Given the description of an element on the screen output the (x, y) to click on. 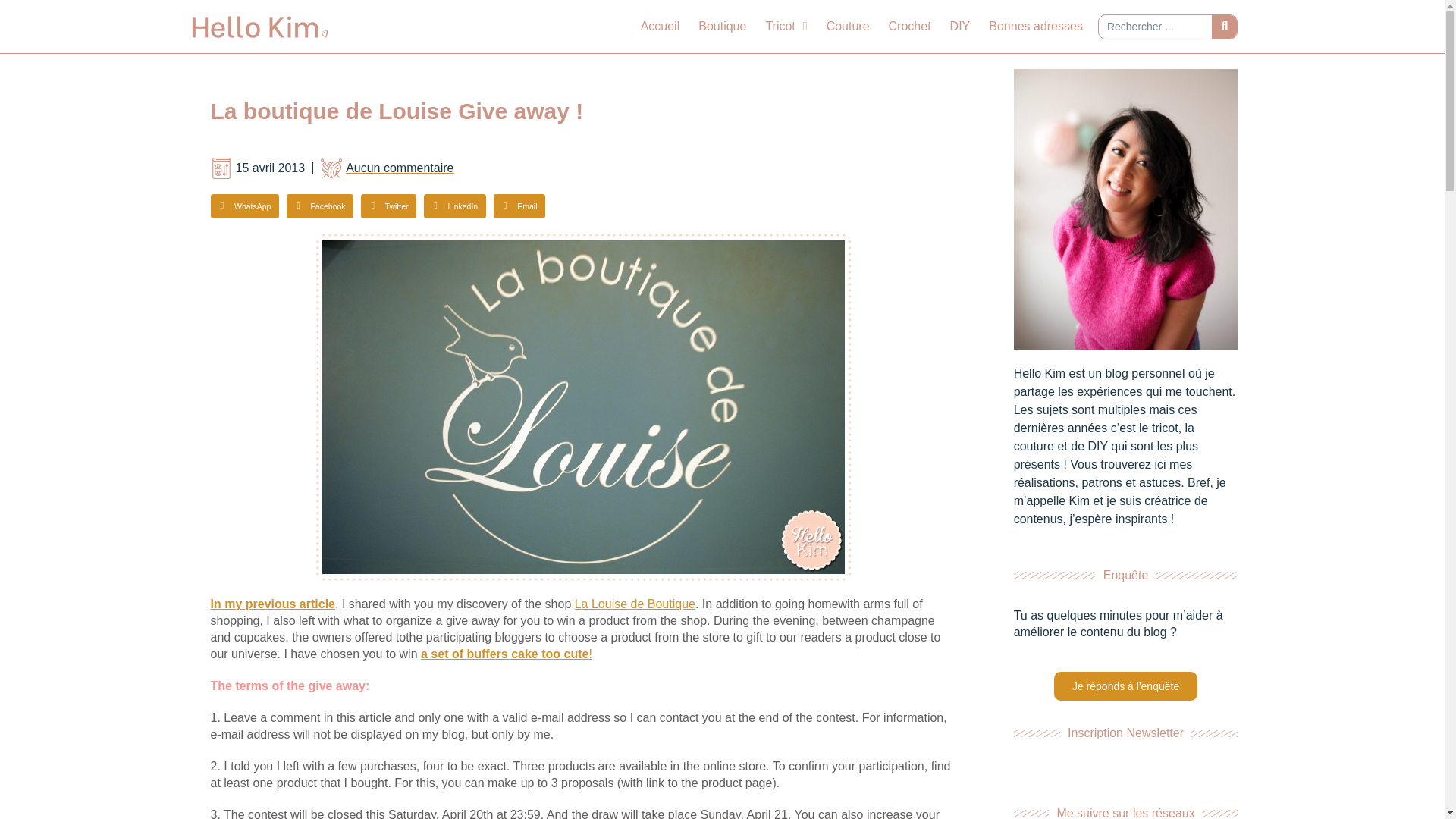
Bonnes adresses (1035, 26)
Boutique (722, 26)
Tricot (785, 26)
Couture (847, 26)
Accueil (660, 26)
Rechercher (1223, 26)
Crochet (909, 26)
DIY (960, 26)
